Given the description of an element on the screen output the (x, y) to click on. 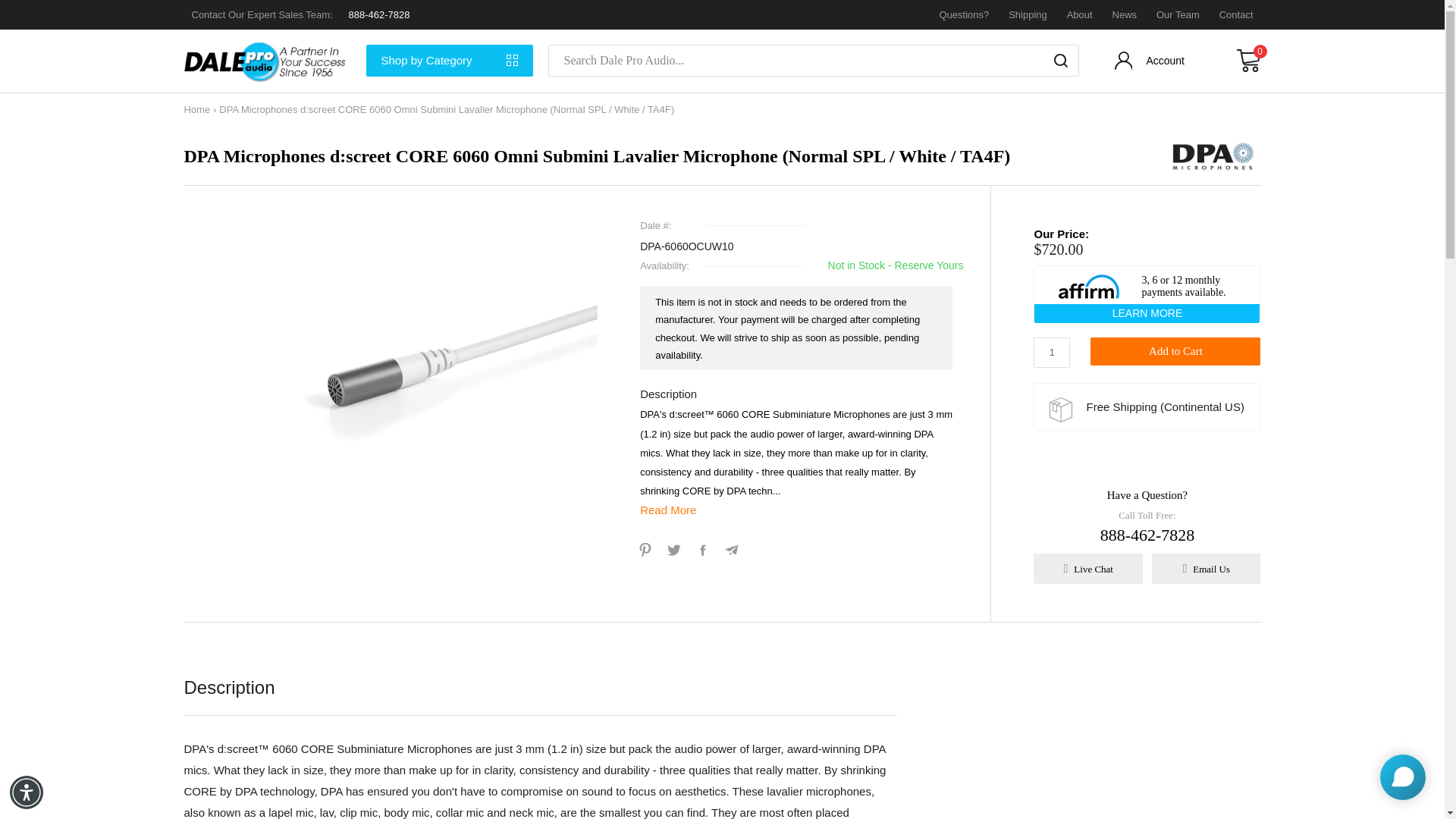
Shop by Category (448, 60)
Accessibility Menu (26, 792)
Our Team (1177, 14)
Account  (1151, 63)
Contact (1236, 14)
About (1080, 14)
Dale Pro Audio (266, 61)
Shipping (1027, 14)
News (1124, 14)
888-462-7828 (379, 14)
Questions? (964, 14)
Home (196, 109)
1 (1051, 352)
Account (1151, 63)
